Given the description of an element on the screen output the (x, y) to click on. 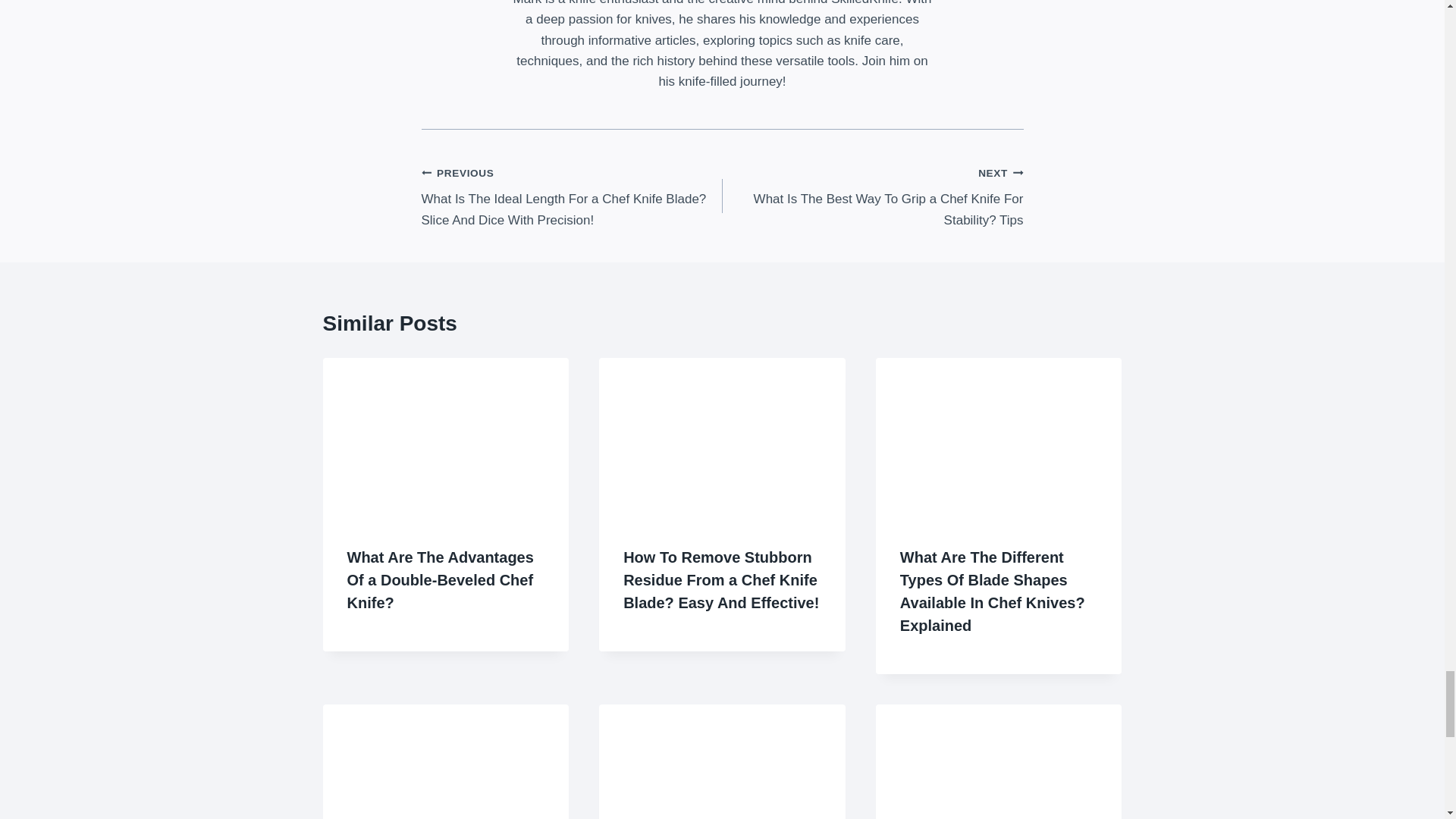
What Are The Advantages Of a Double-Beveled Chef Knife? (440, 579)
